Given the description of an element on the screen output the (x, y) to click on. 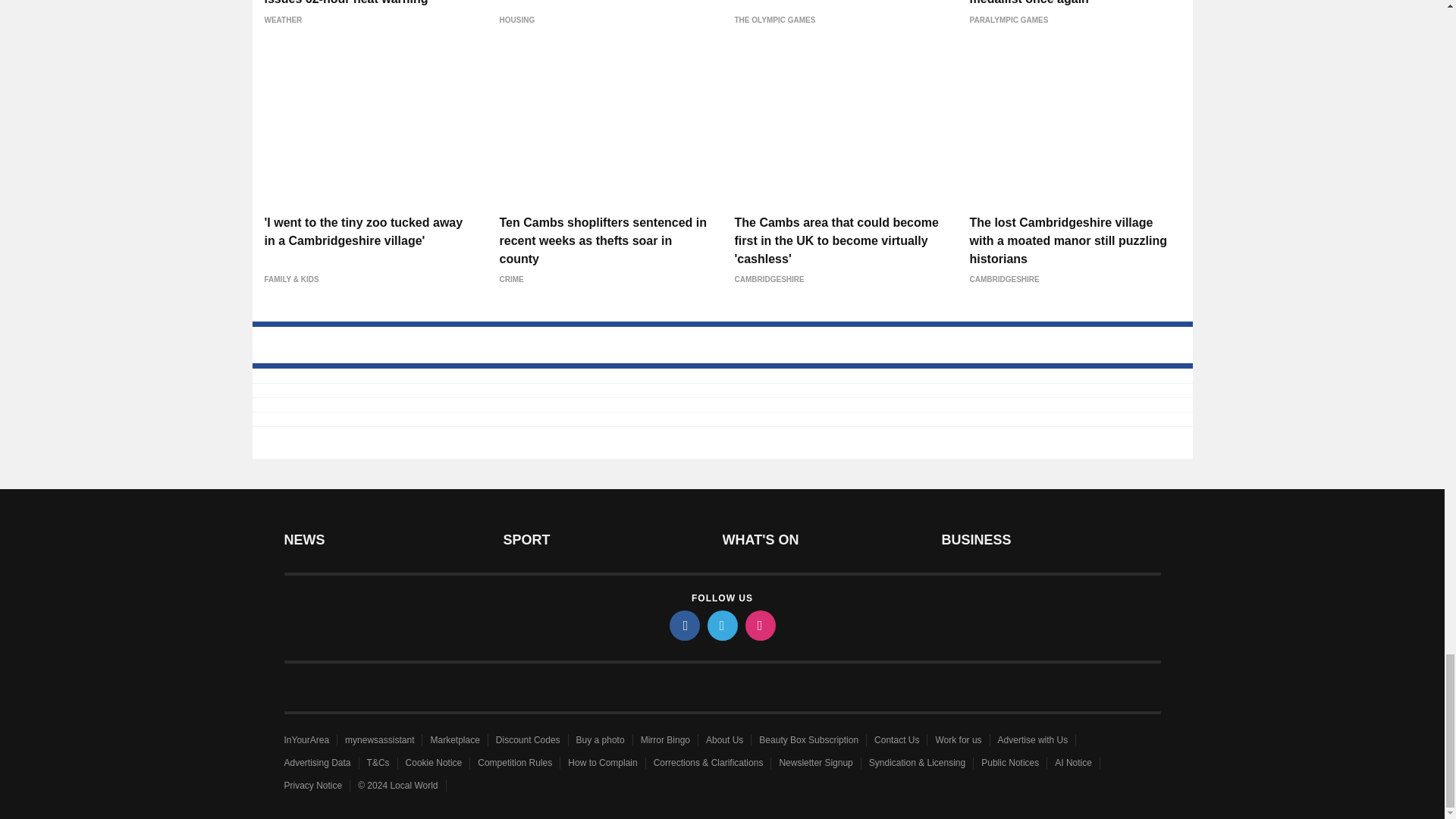
facebook (683, 625)
instagram (759, 625)
twitter (721, 625)
